Given the description of an element on the screen output the (x, y) to click on. 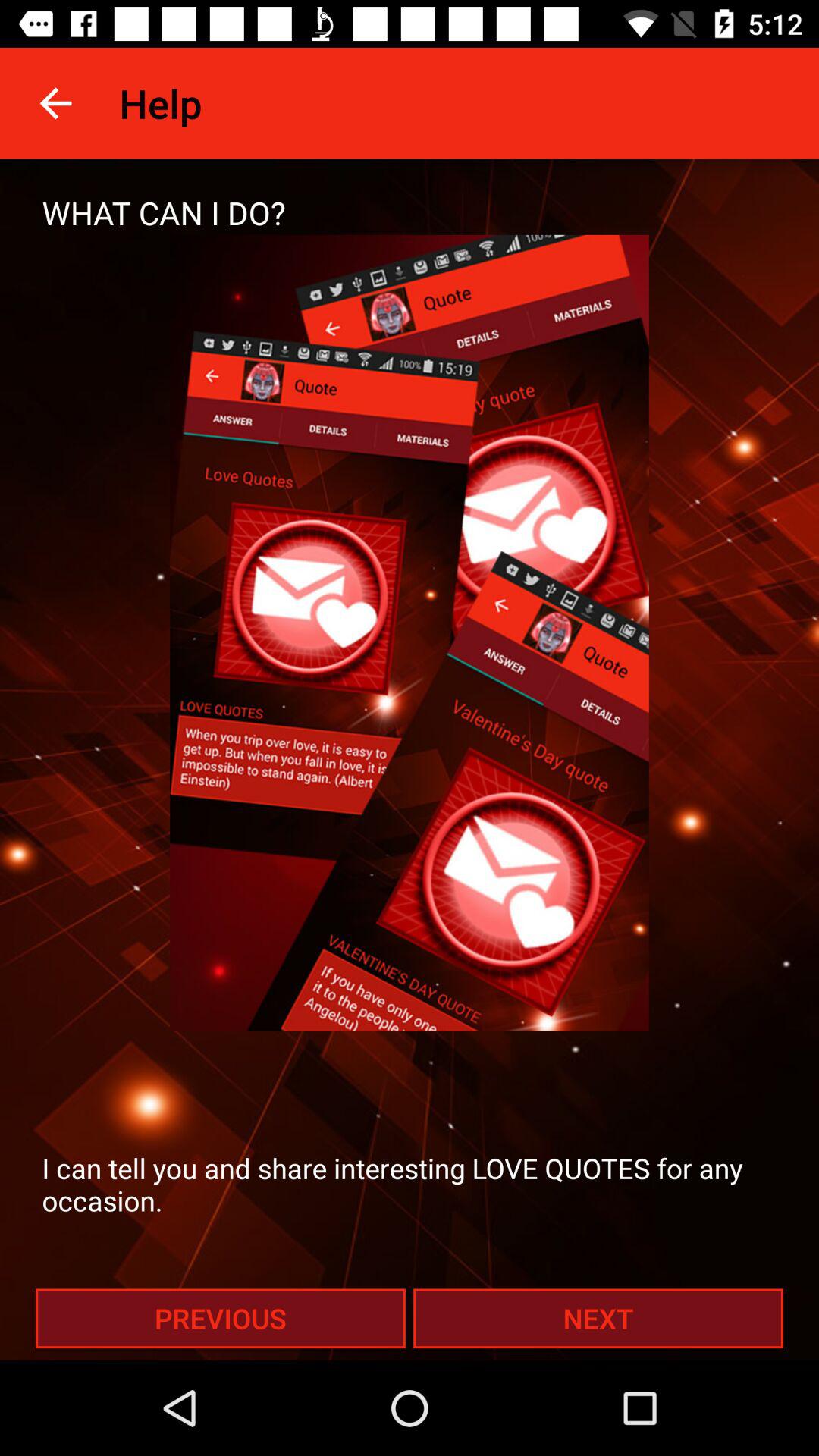
turn off the icon to the left of next (220, 1318)
